Given the description of an element on the screen output the (x, y) to click on. 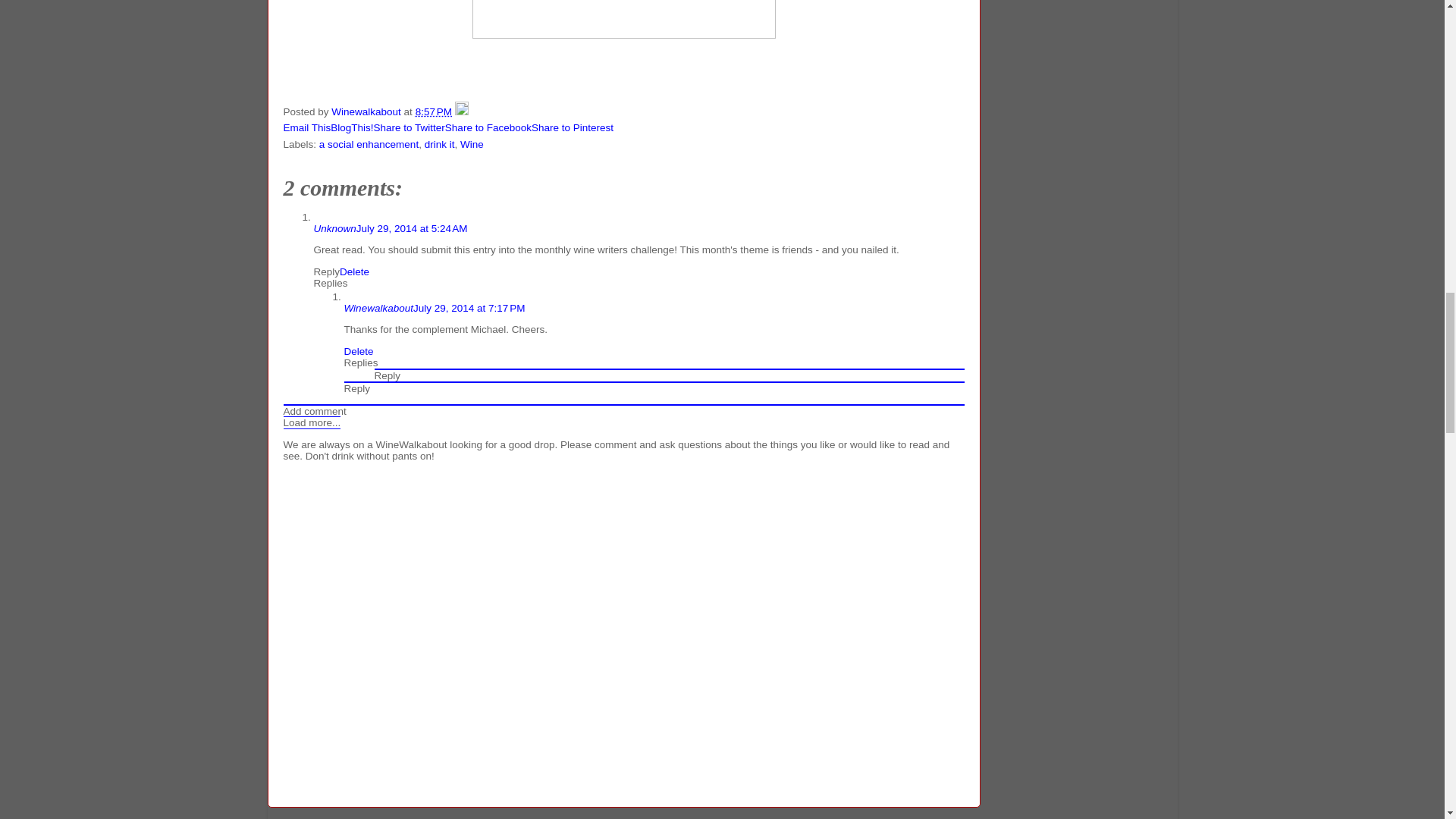
Share to Twitter (409, 127)
Reply (327, 271)
Unknown (335, 228)
Wine (471, 143)
Share to Pinterest (571, 127)
permanent link (432, 111)
Share to Facebook (488, 127)
Share to Facebook (488, 127)
Share to Twitter (409, 127)
Winewalkabout (367, 111)
Share to Pinterest (571, 127)
Winewalkabout (378, 307)
BlogThis! (351, 127)
BlogThis! (351, 127)
